Given the description of an element on the screen output the (x, y) to click on. 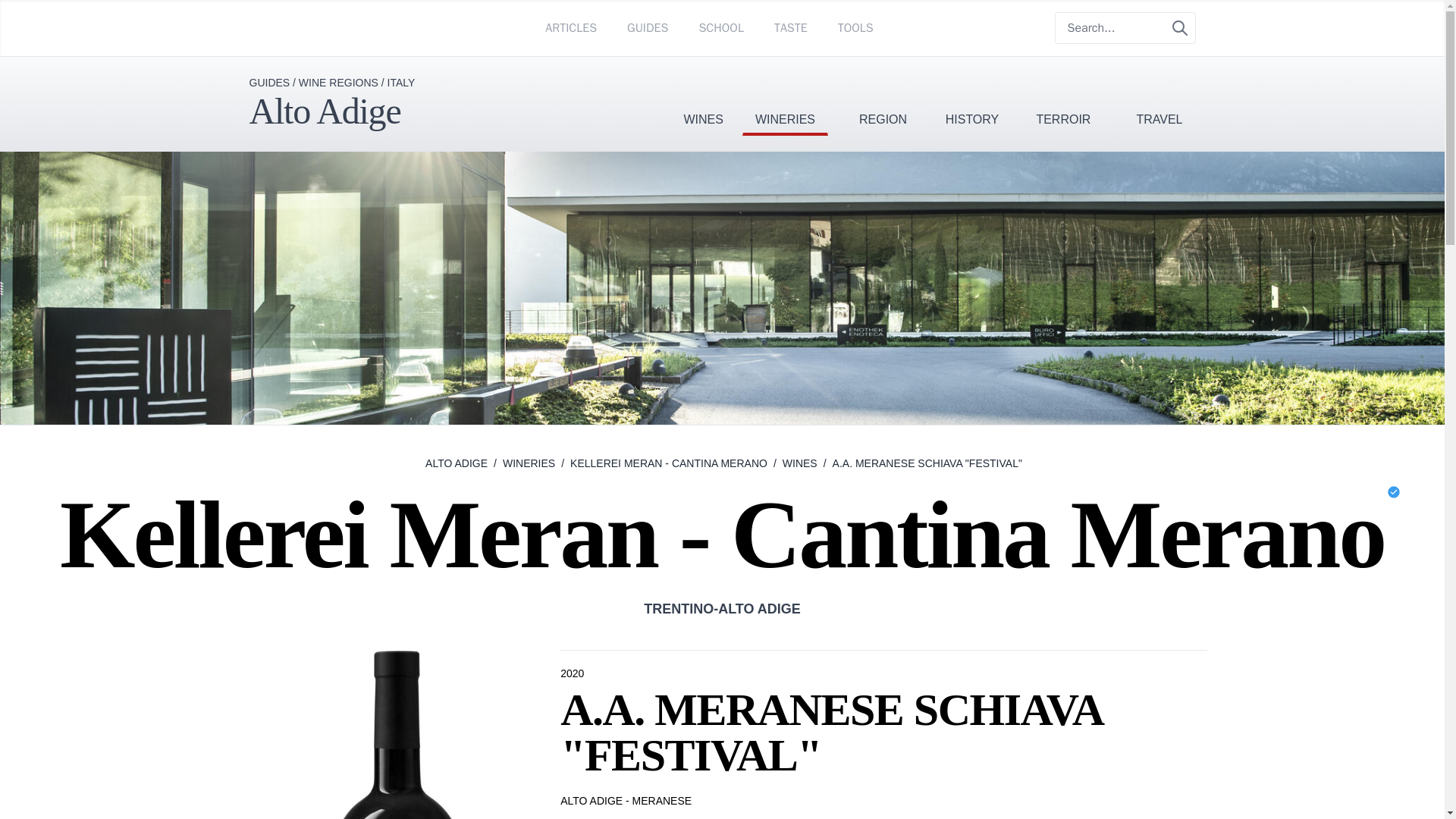
2020 (573, 672)
TOOLS (855, 27)
WINERIES (785, 95)
ITALY (400, 82)
REGION (882, 95)
Verified Organization (1393, 491)
ALTO ADIGE (456, 462)
Alto Adige (324, 110)
TERROIR (1063, 95)
HISTORY (972, 95)
